Given the description of an element on the screen output the (x, y) to click on. 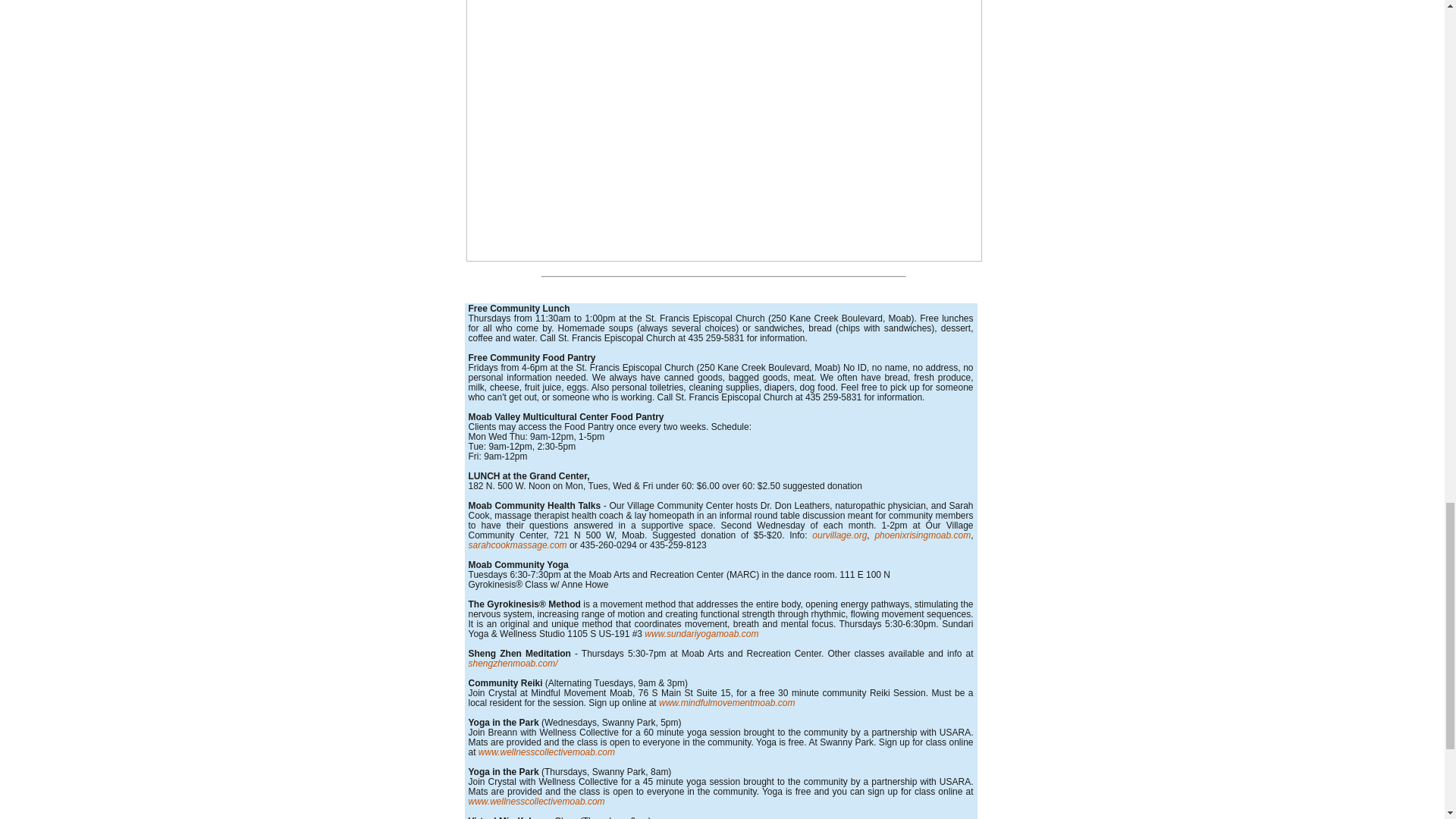
phoenixrisingmoab.com (923, 534)
www.mindfulmovementmoab.com (726, 702)
ourvillage.org (839, 534)
www.sundariyogamoab.com (701, 633)
sarahcookmassage.com (517, 544)
www.wellnesscollectivemoab.com (536, 801)
www.wellnesscollectivemoab.com (545, 751)
